Given the description of an element on the screen output the (x, y) to click on. 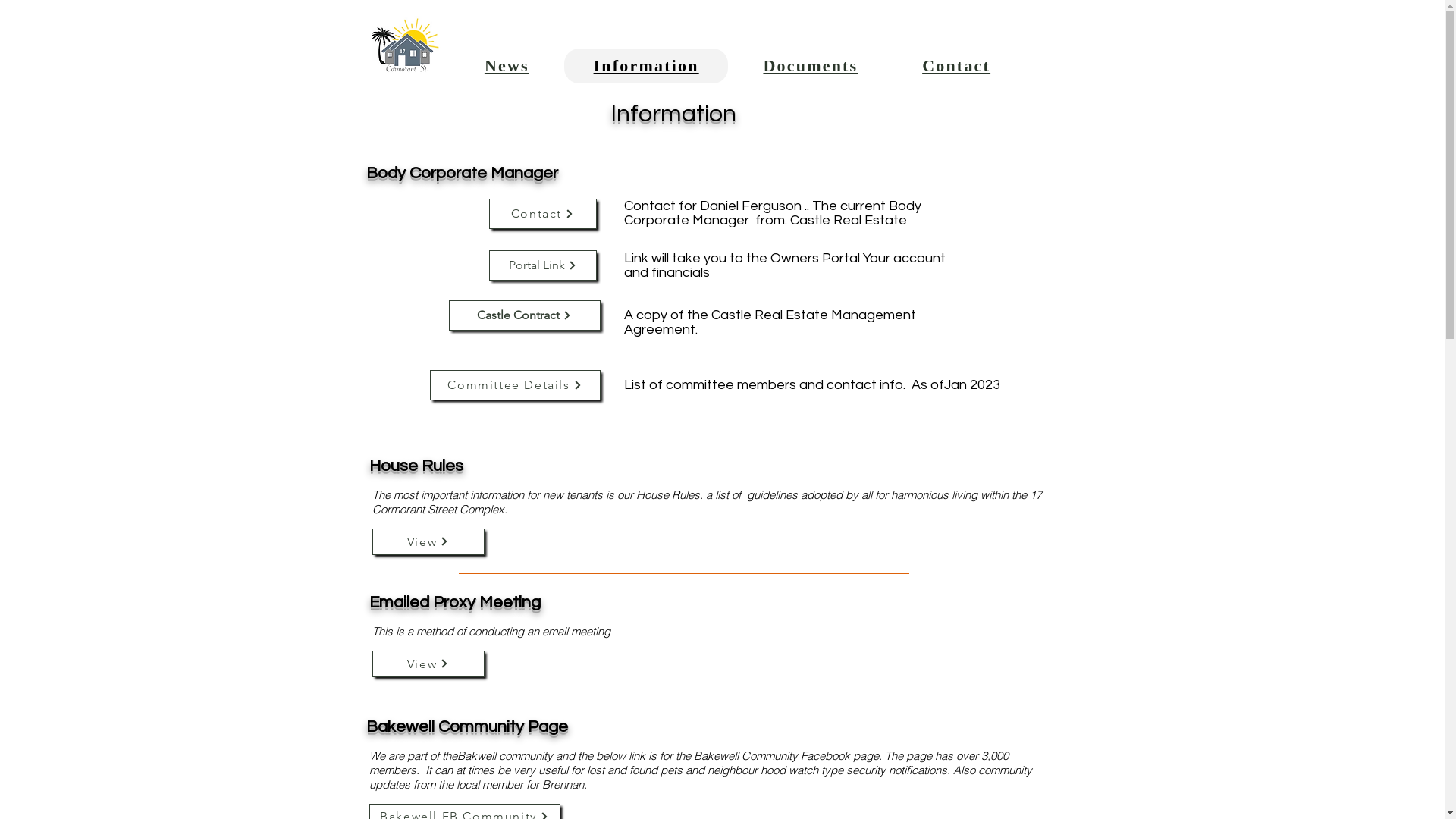
View Element type: text (427, 541)
Castle Contract Element type: text (524, 315)
Contact Element type: text (956, 65)
Portal Link Element type: text (542, 265)
Committee Details Element type: text (514, 385)
View Element type: text (427, 663)
News Element type: text (506, 65)
Contact Element type: text (542, 213)
Documents Element type: text (810, 65)
Information Element type: text (646, 65)
